Given the description of an element on the screen output the (x, y) to click on. 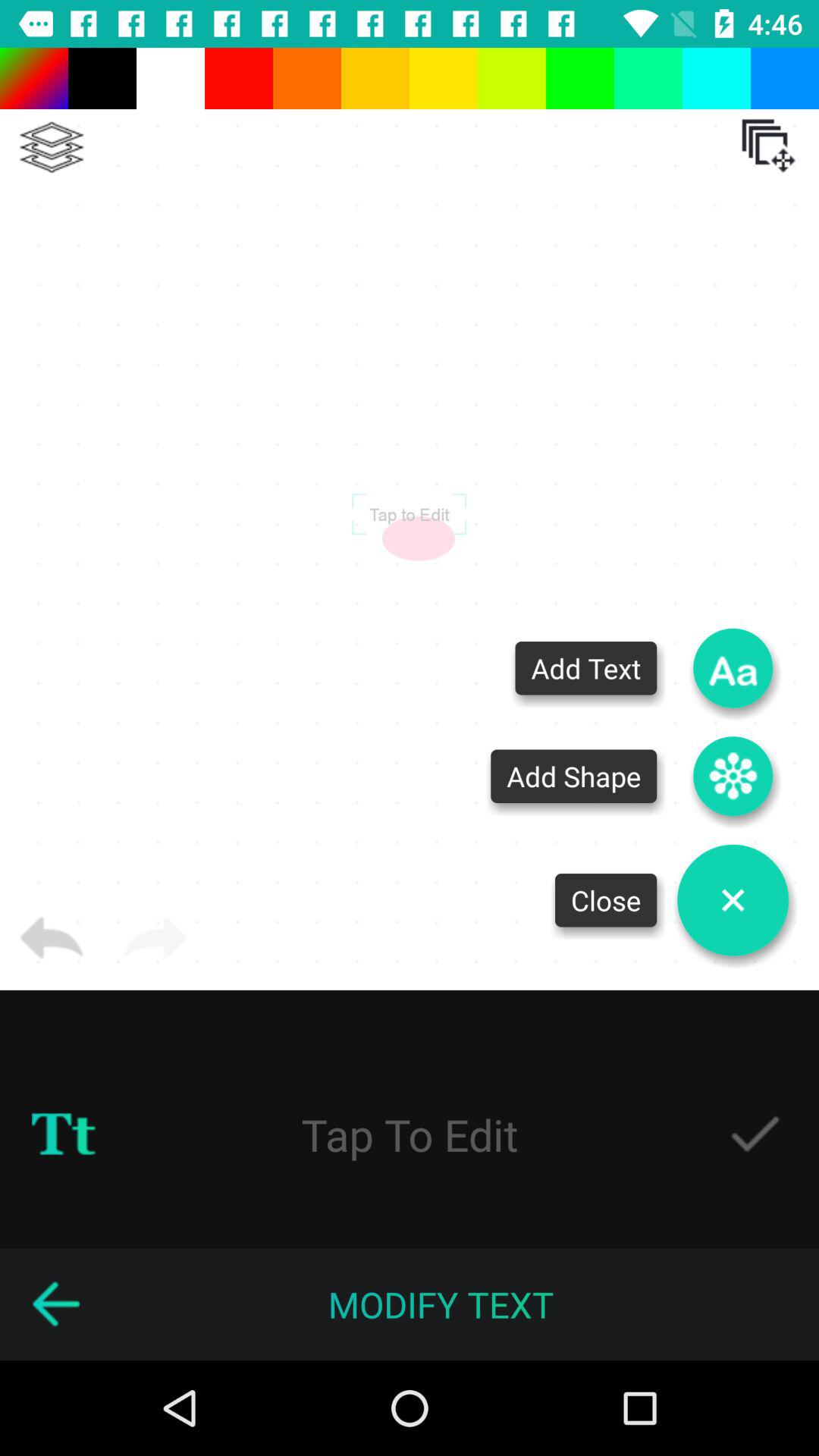
text symbol (63, 1134)
